Given the description of an element on the screen output the (x, y) to click on. 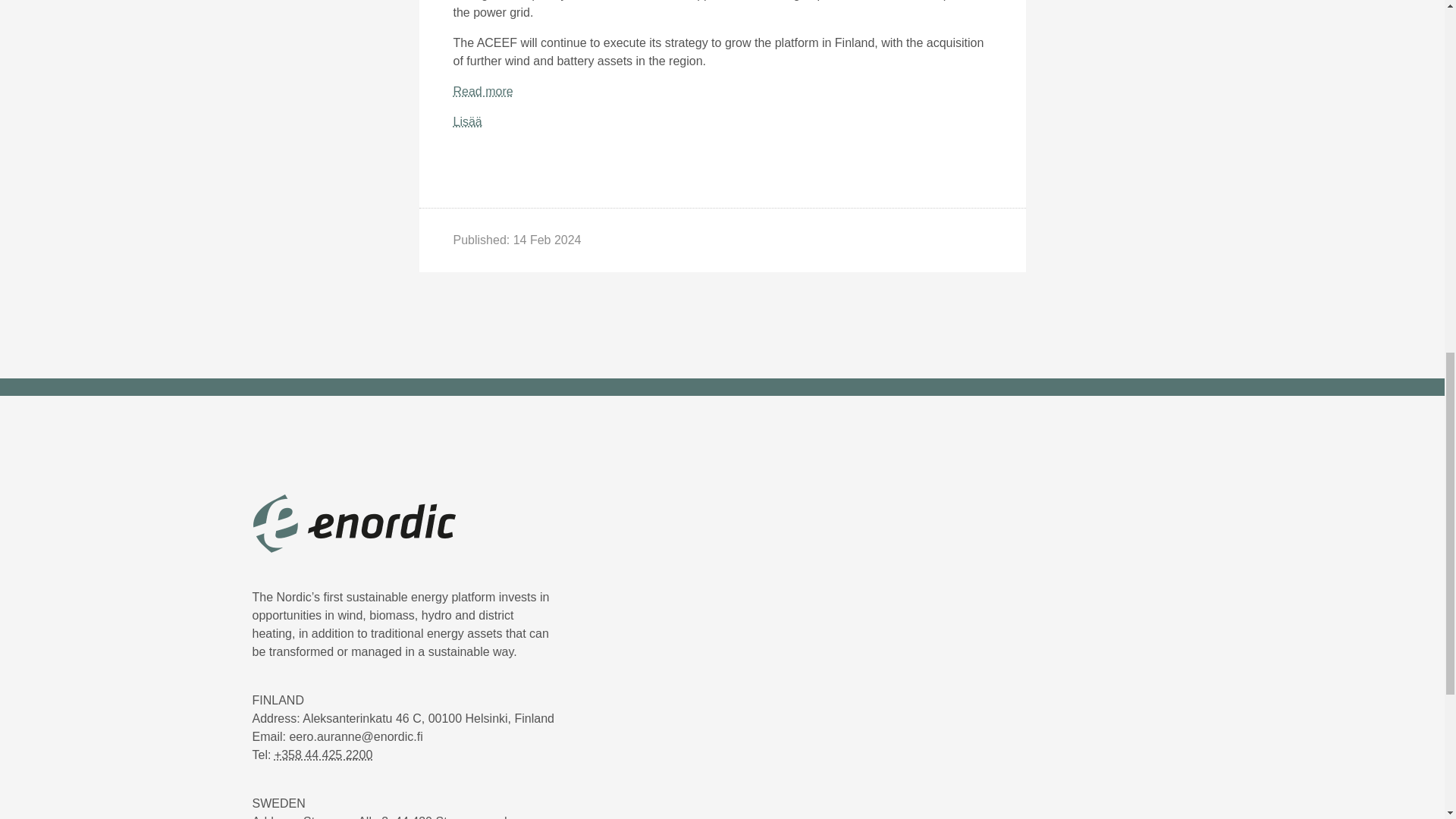
Read more (482, 91)
